Given the description of an element on the screen output the (x, y) to click on. 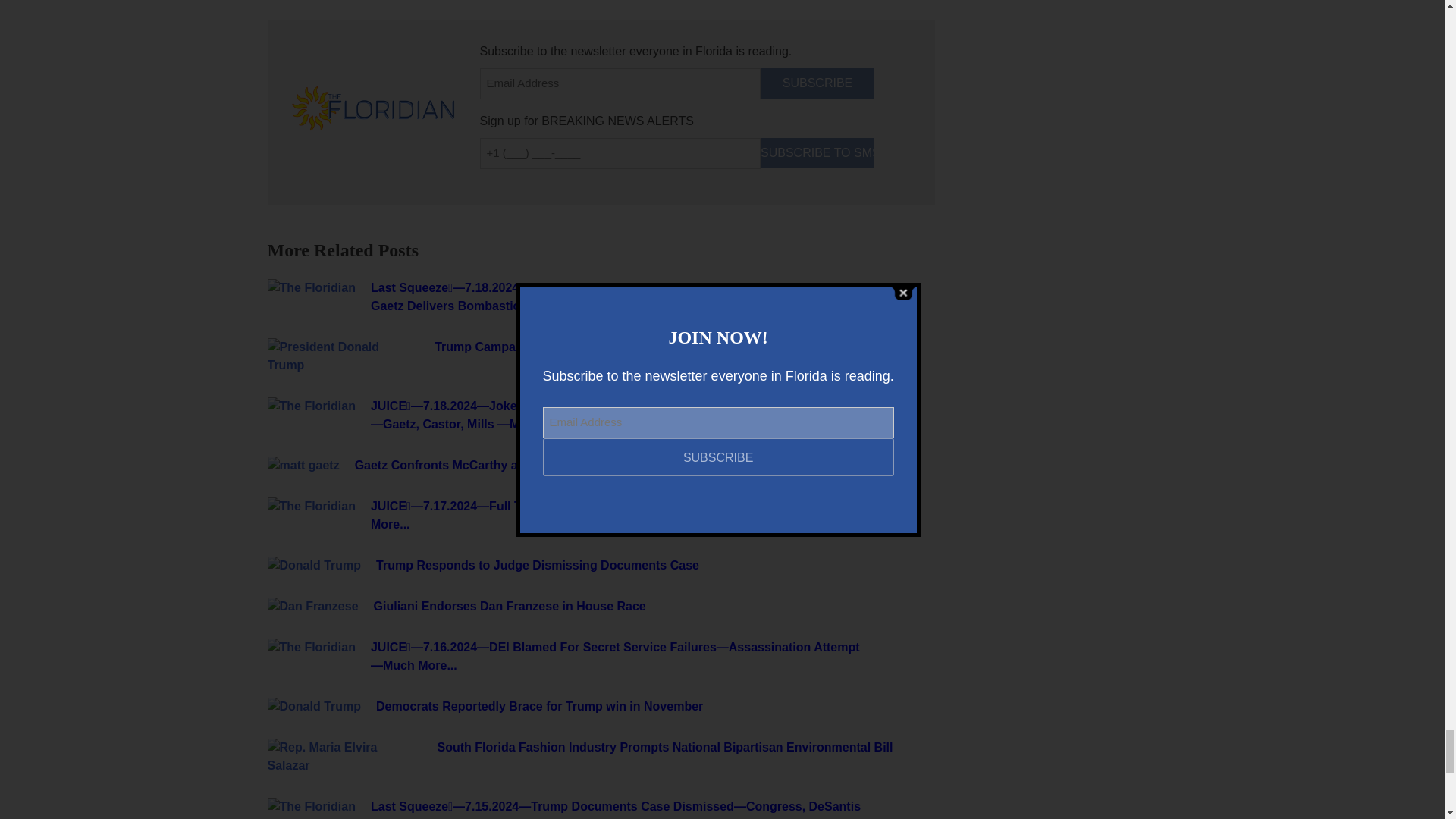
SUBSCRIBE TO SMS (817, 153)
SUBSCRIBE (817, 82)
